Given the description of an element on the screen output the (x, y) to click on. 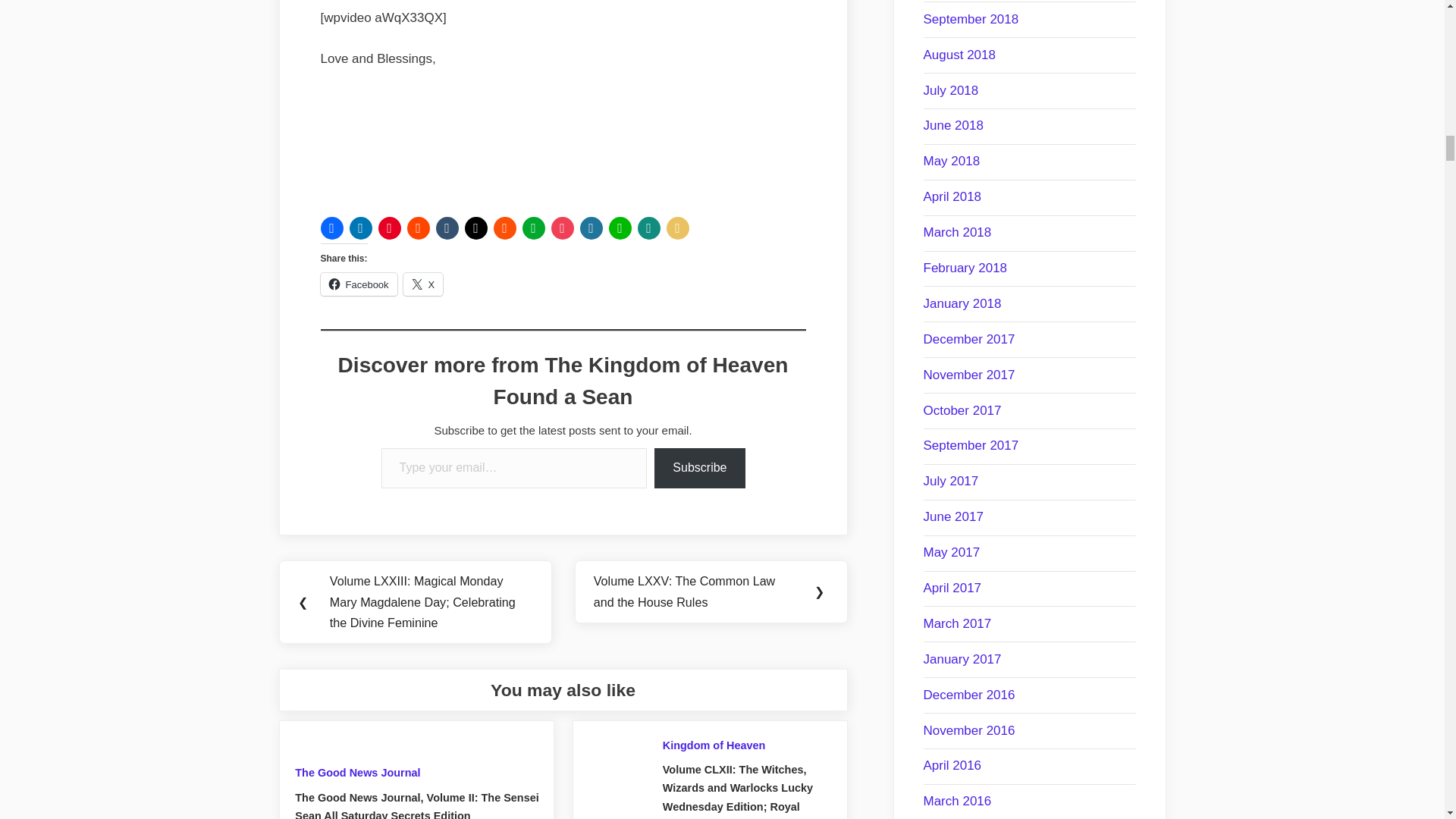
Please fill in this field. (513, 467)
Click to share on X (423, 283)
Kingdom of Heaven (713, 745)
Subscribe (698, 467)
Click to share on Facebook (358, 283)
Facebook (358, 283)
The Good News Journal (357, 772)
X (423, 283)
